Given the description of an element on the screen output the (x, y) to click on. 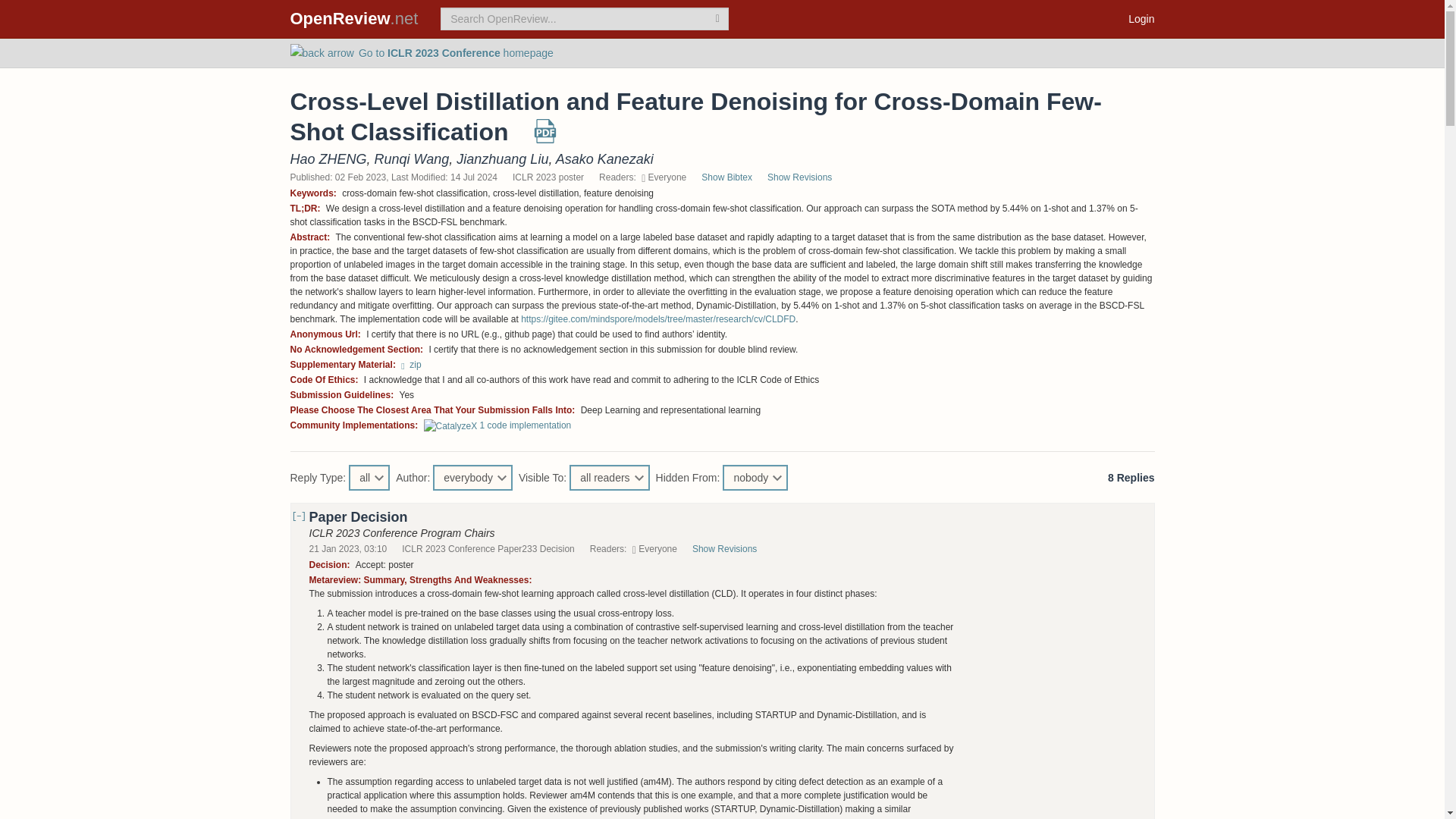
  zip (410, 364)
Venue Homepage (421, 52)
Hao ZHENG (327, 159)
Download Supplementary Material (410, 364)
all readers (609, 477)
Asako Kanezaki (604, 159)
OpenReview.net (354, 18)
Download PDF (544, 136)
Go to ICLR 2023 Conference homepage (421, 52)
Jianzhuang Liu (502, 159)
Show Revisions (732, 548)
Runqi Wang (411, 159)
Show Revisions (807, 176)
Show Bibtex (726, 176)
everybody (472, 477)
